Given the description of an element on the screen output the (x, y) to click on. 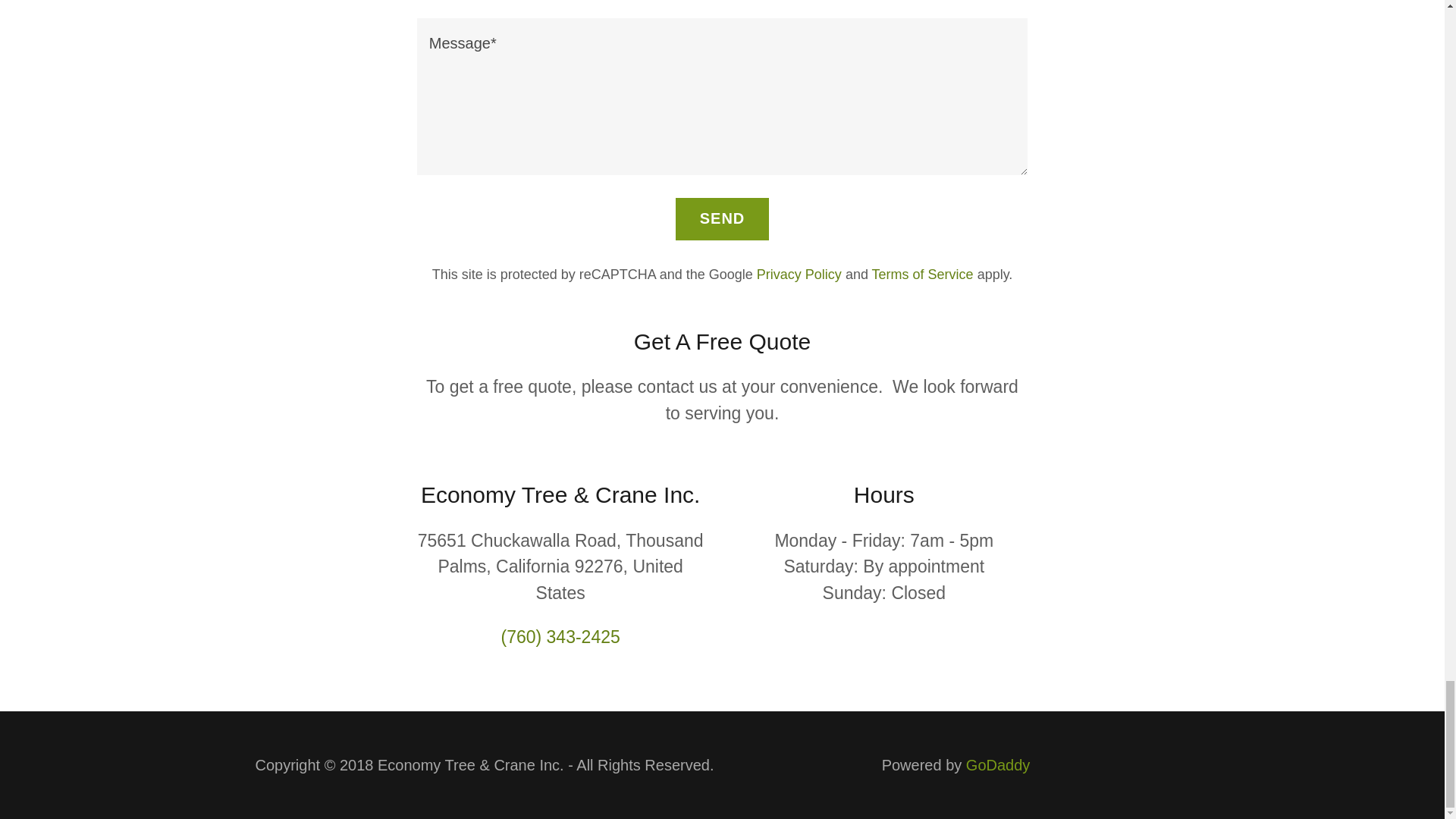
Privacy Policy (799, 273)
Terms of Service (923, 273)
SEND (722, 219)
GoDaddy (998, 764)
